Given the description of an element on the screen output the (x, y) to click on. 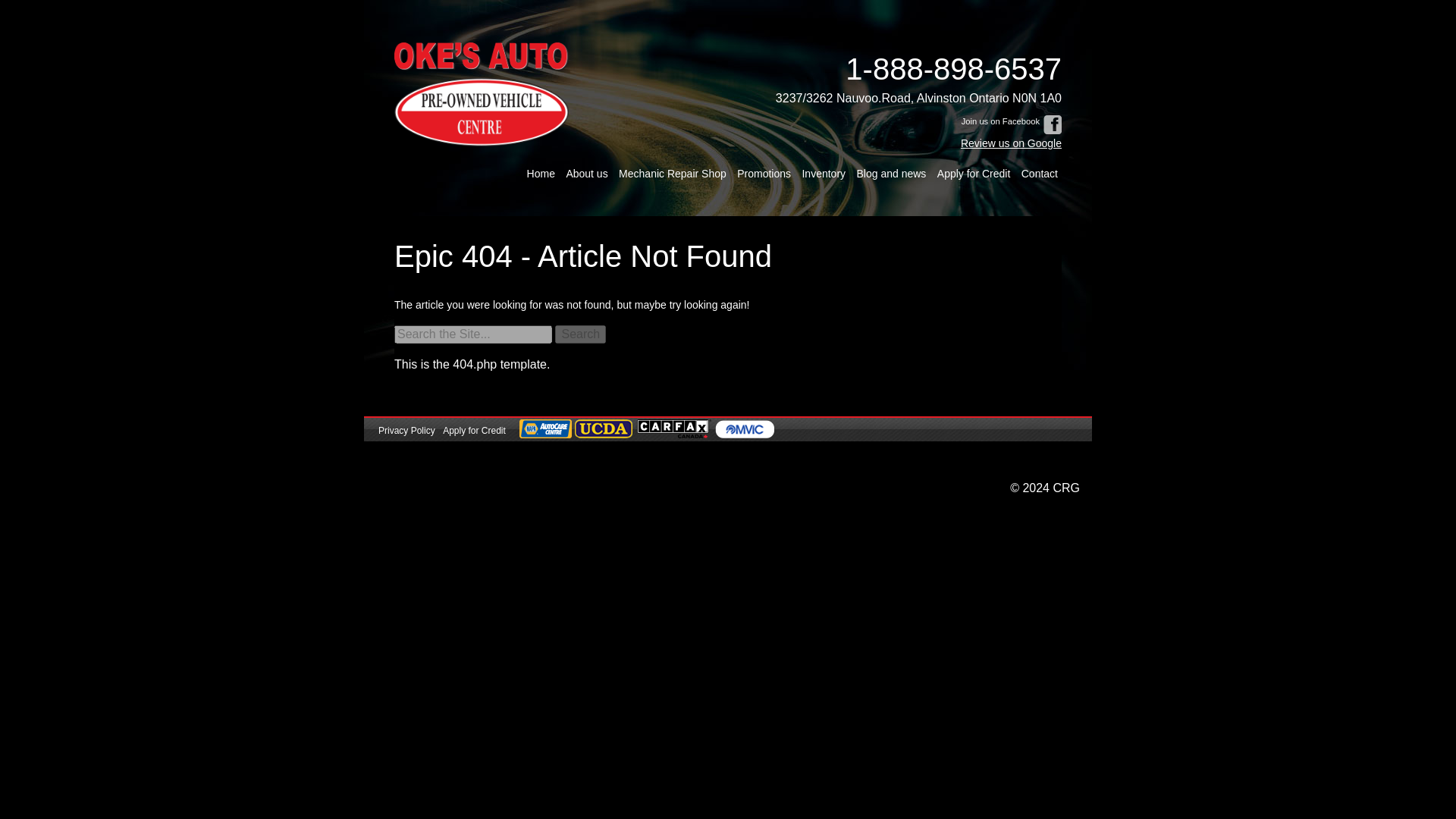
Search (579, 334)
Inventory (822, 173)
Oke's Auto Inc., Auto Dealers  Used Cars, Alvinston, ON (413, 460)
Apply for Credit (474, 430)
Mechanic Repair Shop (672, 173)
Promotions (763, 173)
Home (540, 173)
Apply for Credit (973, 173)
1-888-898-6537 (918, 69)
Contact (1039, 173)
